Given the description of an element on the screen output the (x, y) to click on. 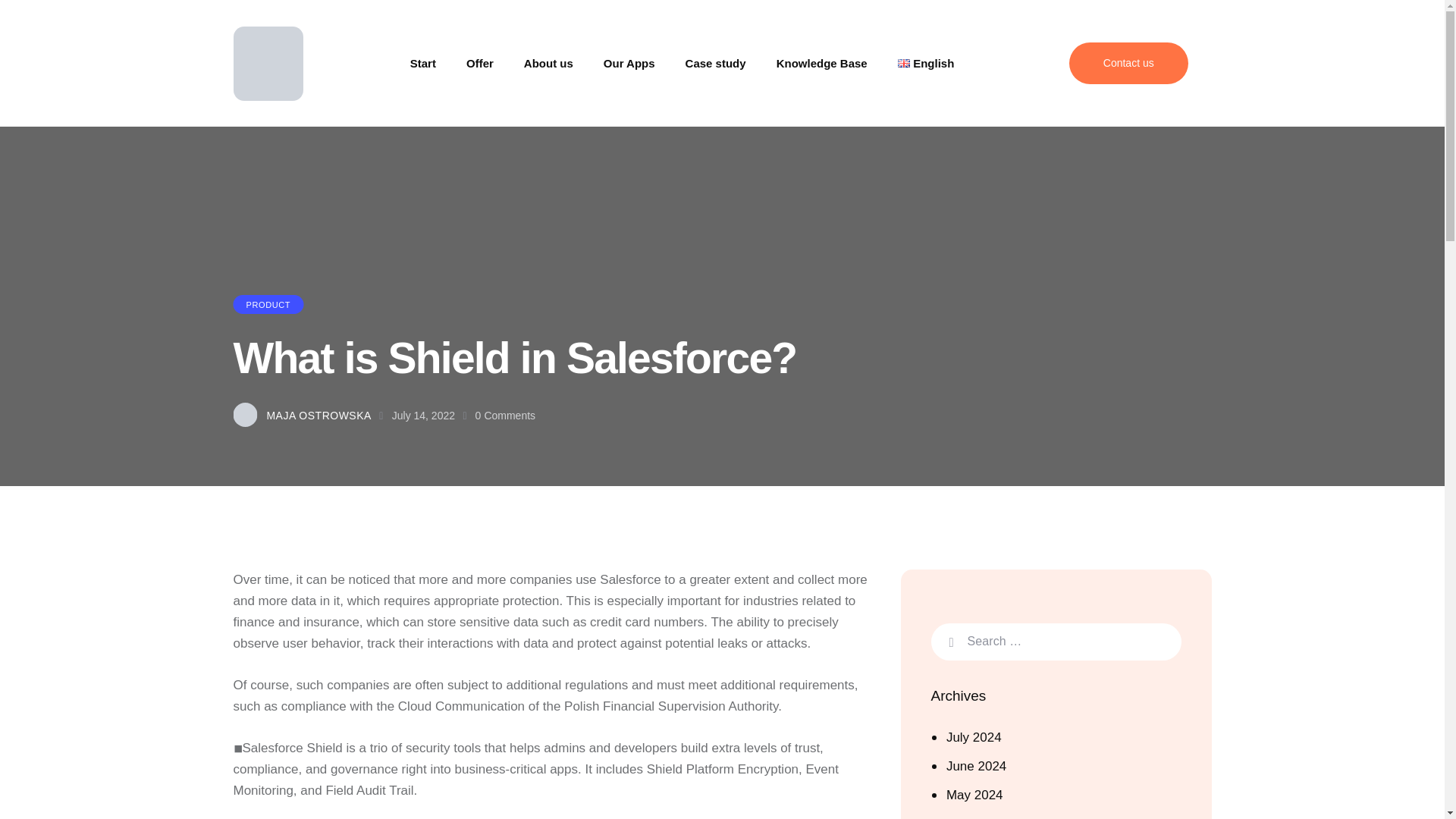
Contact us (1128, 63)
Case study (715, 63)
Our Apps (628, 63)
Start (422, 63)
About us (548, 63)
English (925, 63)
Knowledge Base (821, 63)
Offer (479, 63)
